Given the description of an element on the screen output the (x, y) to click on. 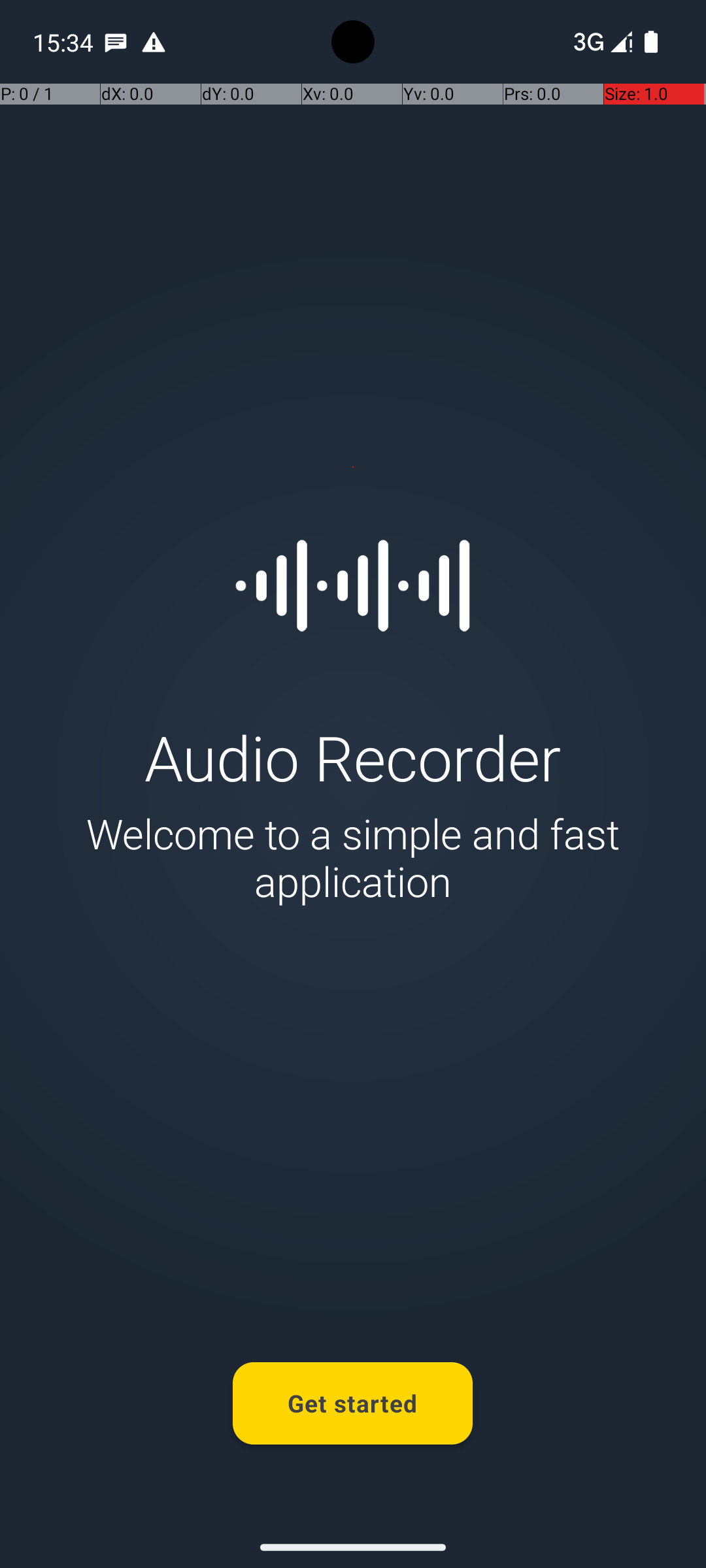
Get started Element type: android.widget.Button (352, 1403)
Audio Recorder Element type: android.widget.TextView (352, 756)
Welcome to a simple and fast application Element type: android.widget.TextView (352, 856)
15:34 Element type: android.widget.TextView (64, 41)
SMS Messenger notification:  Element type: android.widget.ImageView (115, 41)
Android System notification: Data warning Element type: android.widget.ImageView (153, 41)
Phone three bars. Element type: android.widget.FrameLayout (600, 41)
Battery 100 percent. Element type: android.widget.LinearLayout (650, 41)
No internet Element type: android.widget.ImageView (587, 41)
